Given the description of an element on the screen output the (x, y) to click on. 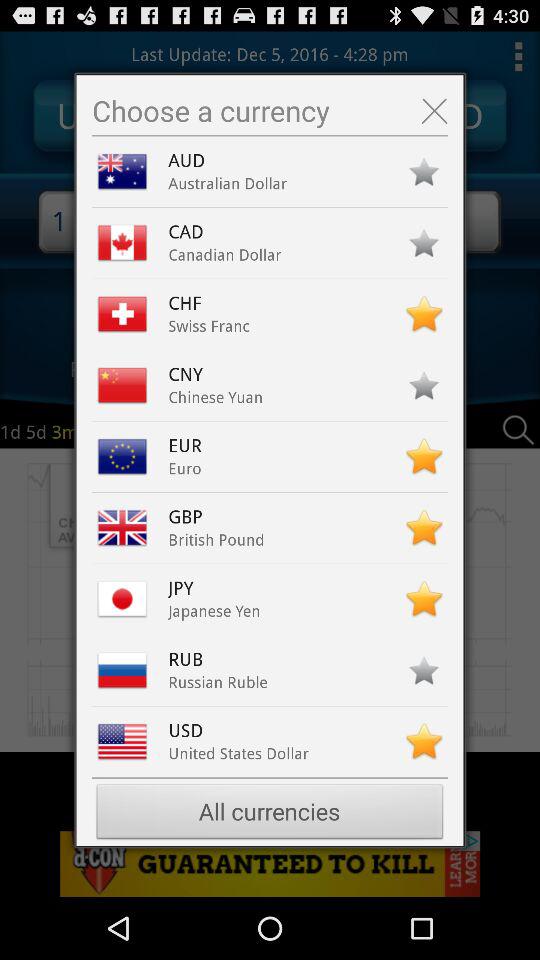
click the cny item (189, 374)
